Given the description of an element on the screen output the (x, y) to click on. 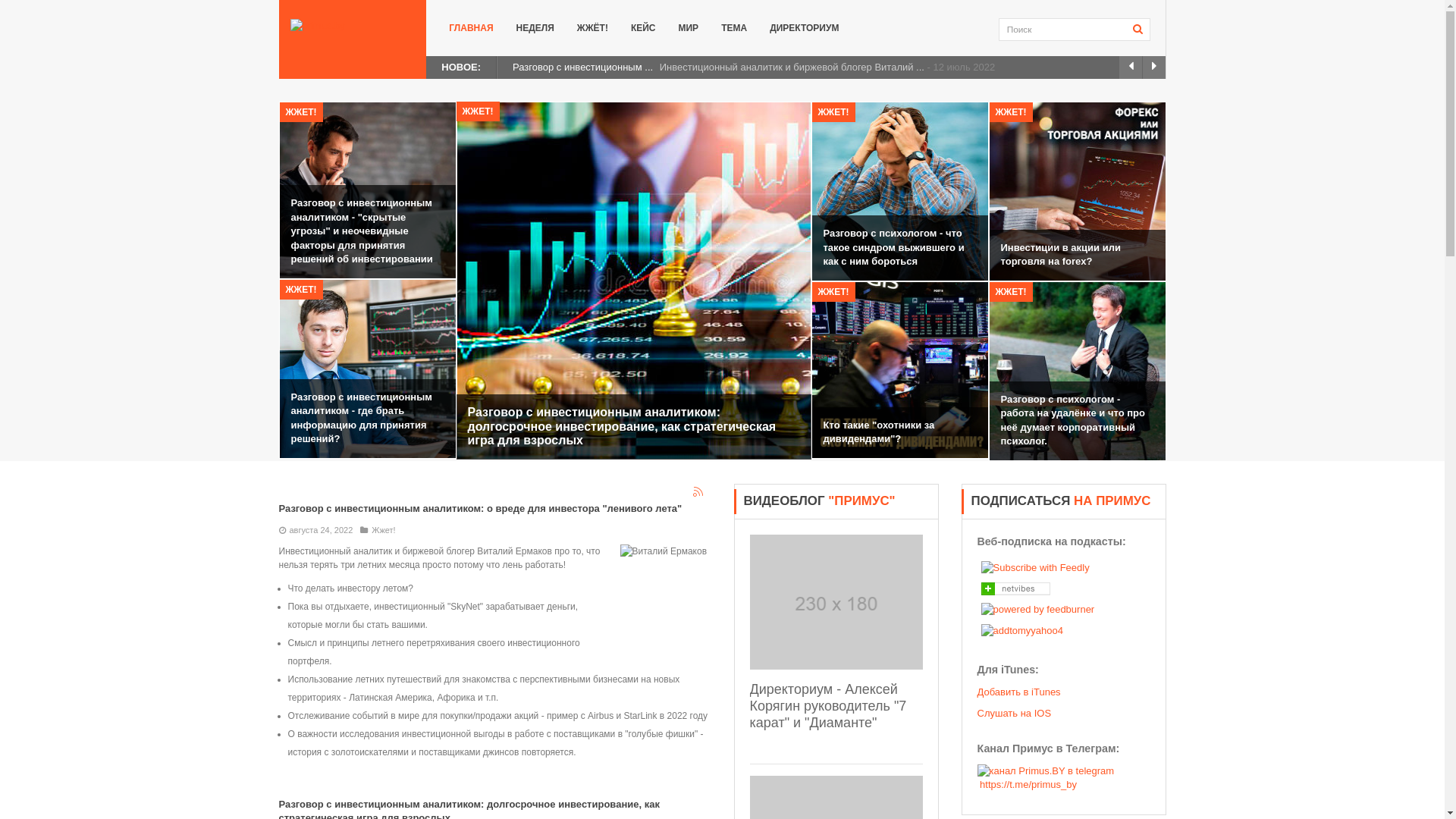
primus.by Element type: hover (351, 25)
 https://t.me/primus_by Element type: text (1044, 777)
